Given the description of an element on the screen output the (x, y) to click on. 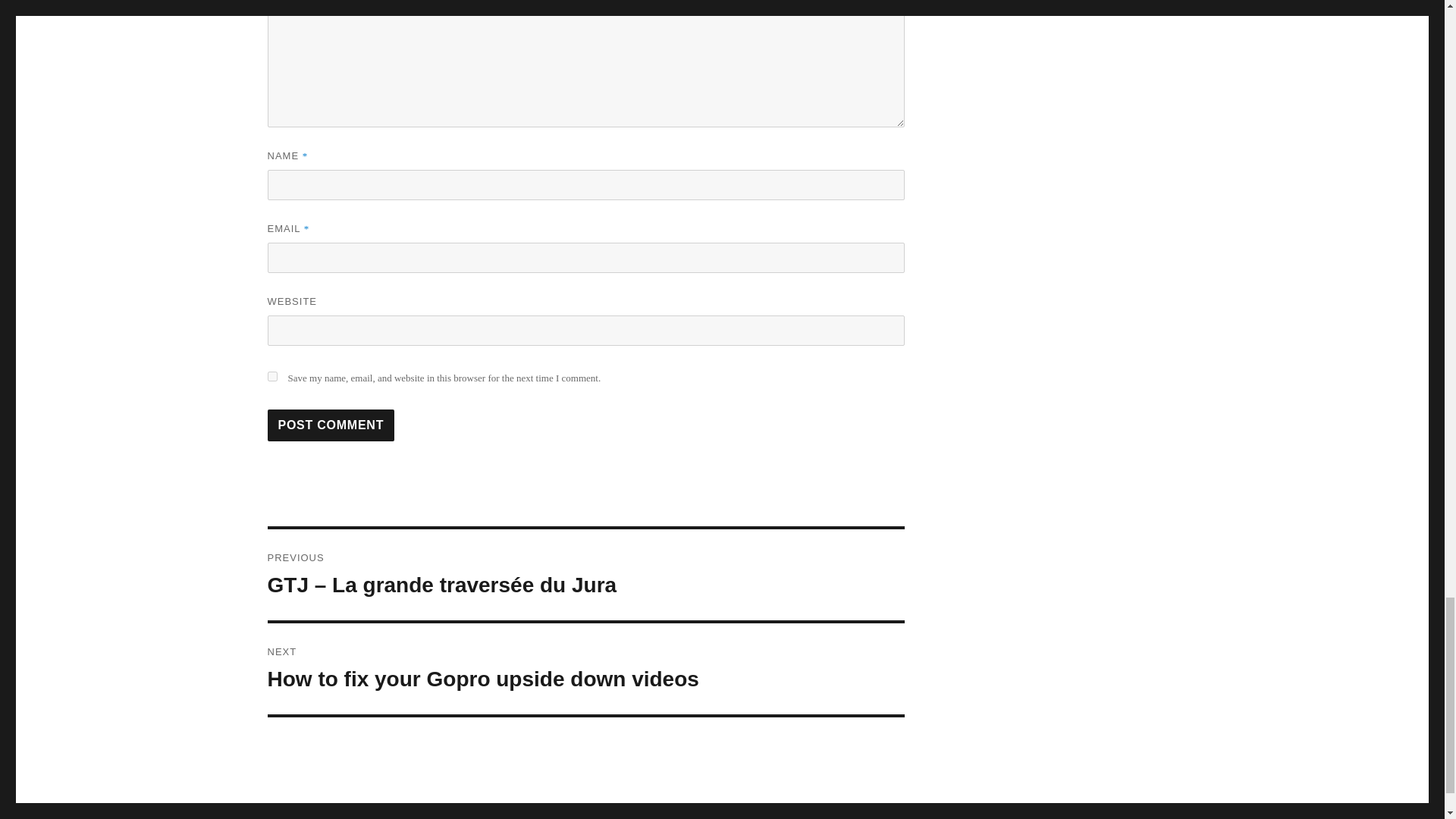
Post Comment (585, 668)
yes (330, 425)
Post Comment (271, 376)
